Given the description of an element on the screen output the (x, y) to click on. 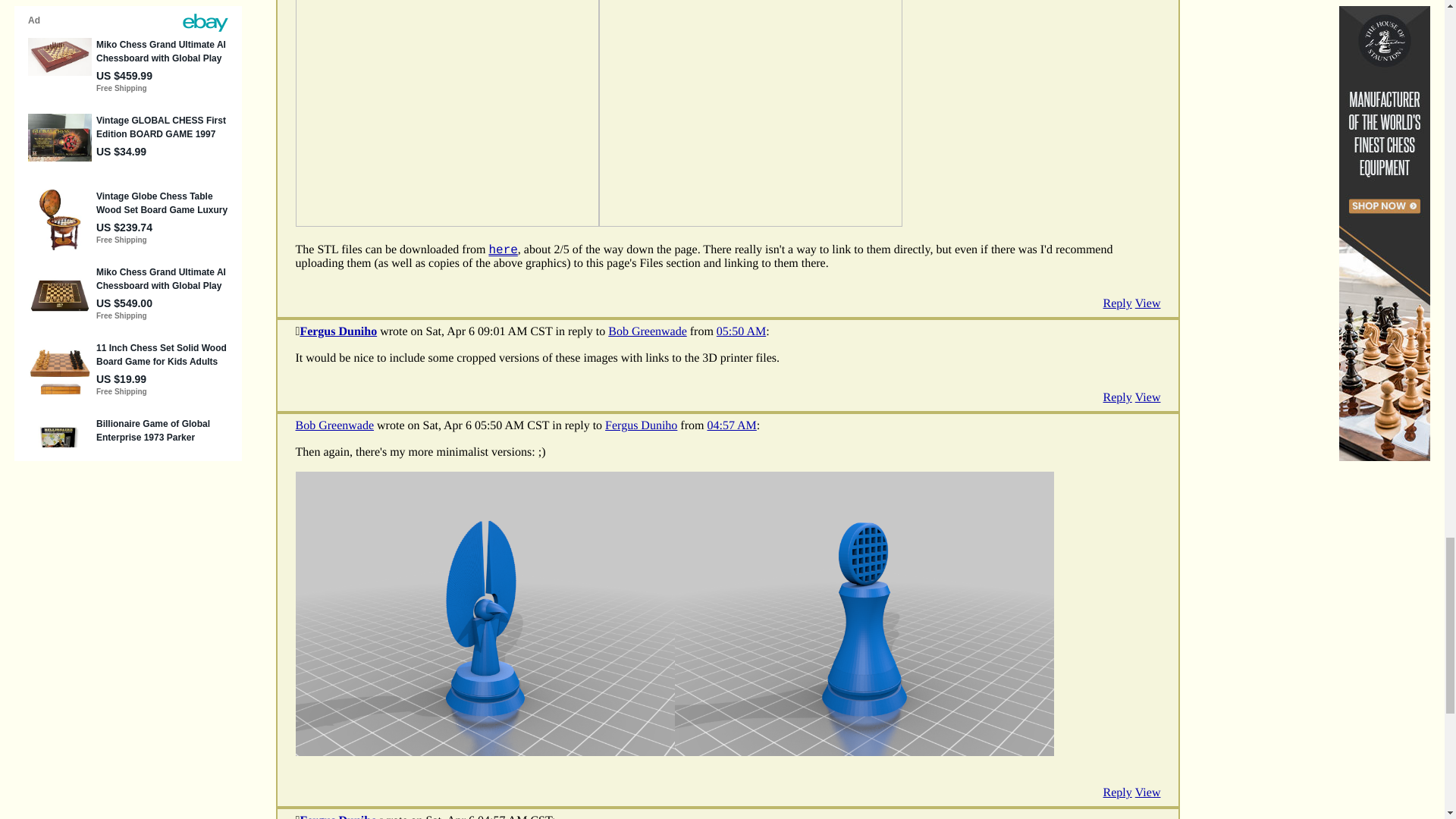
Bob Greenwade (647, 331)
Fergus Duniho (641, 425)
04:57 AM (730, 425)
Bob Greenwade (334, 425)
Fergus Duniho (338, 331)
here (501, 250)
Reply (1117, 304)
05:50 AM (740, 331)
View (1147, 397)
Reply (1117, 397)
View (1147, 304)
